Given the description of an element on the screen output the (x, y) to click on. 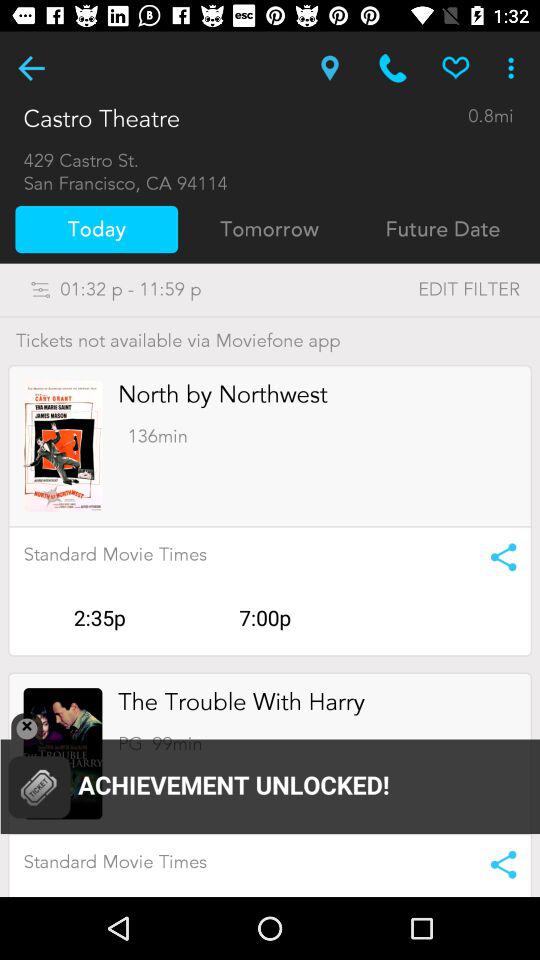
shre button (496, 557)
